Given the description of an element on the screen output the (x, y) to click on. 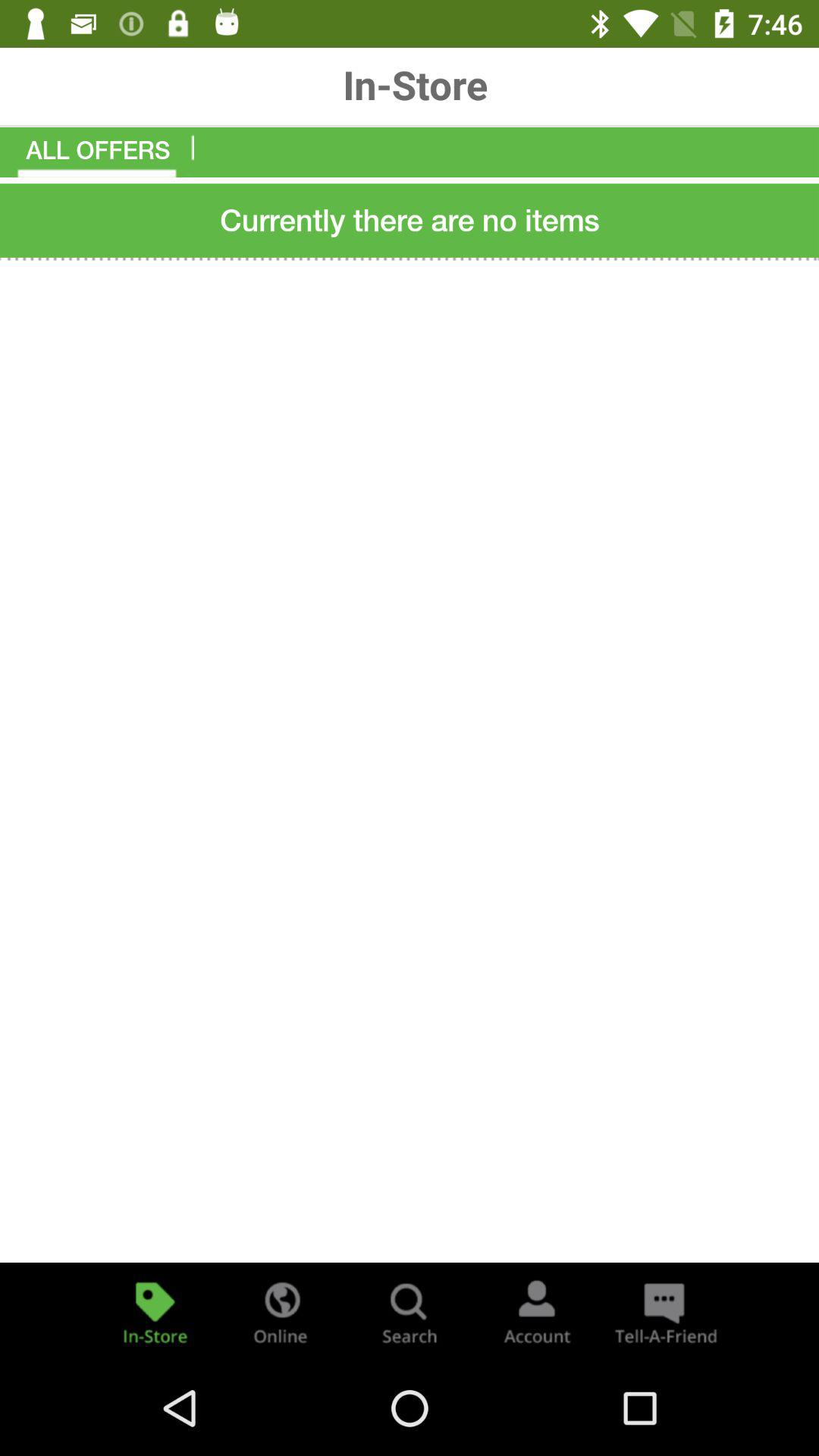
go to account (536, 1311)
